Given the description of an element on the screen output the (x, y) to click on. 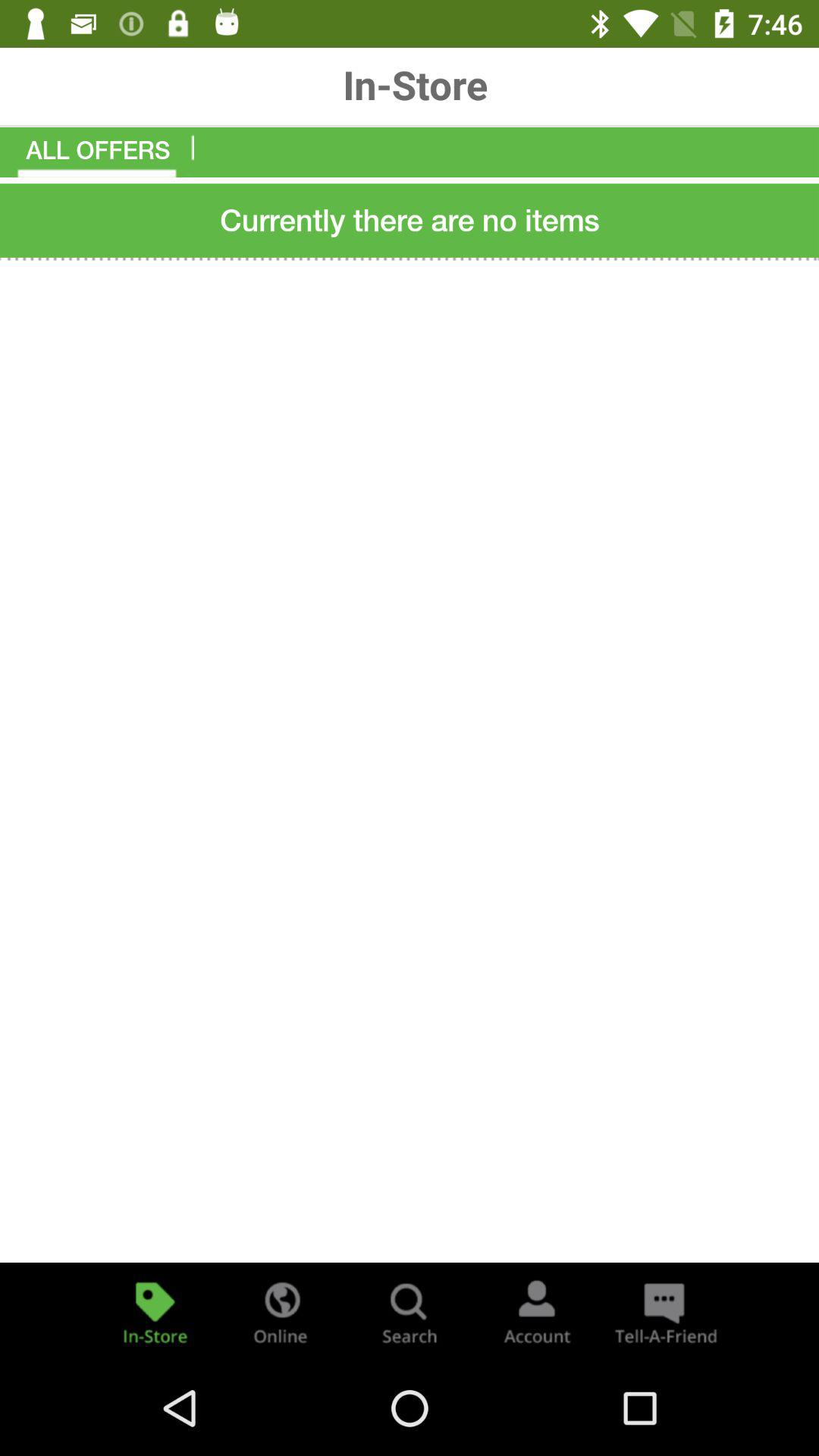
go to account (536, 1311)
